Given the description of an element on the screen output the (x, y) to click on. 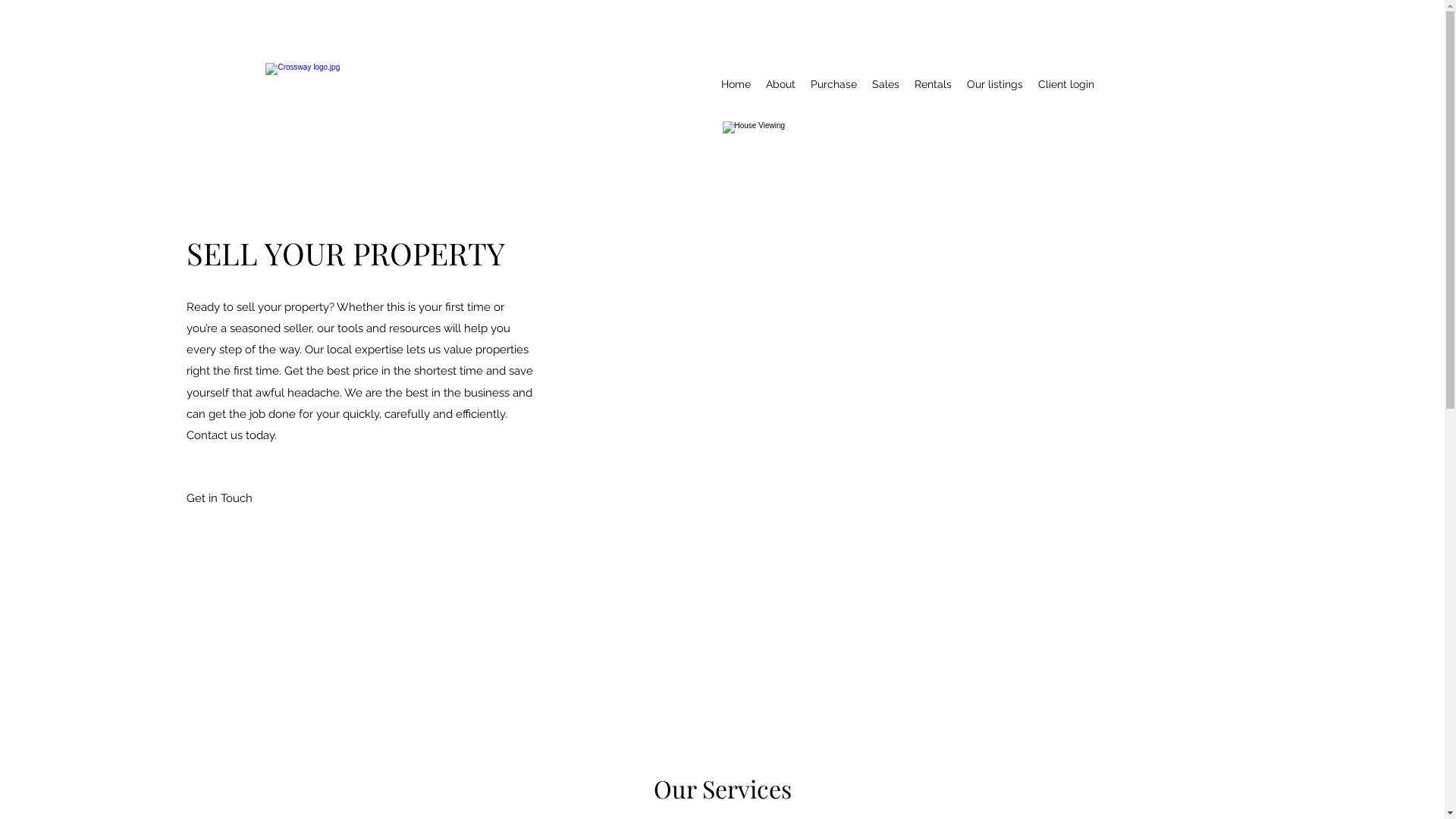
About Element type: text (780, 83)
Home Element type: text (735, 83)
Our listings Element type: text (994, 83)
Sales Element type: text (885, 83)
Client login Element type: text (1065, 83)
Purchase Element type: text (833, 83)
Rentals Element type: text (932, 83)
